Given the description of an element on the screen output the (x, y) to click on. 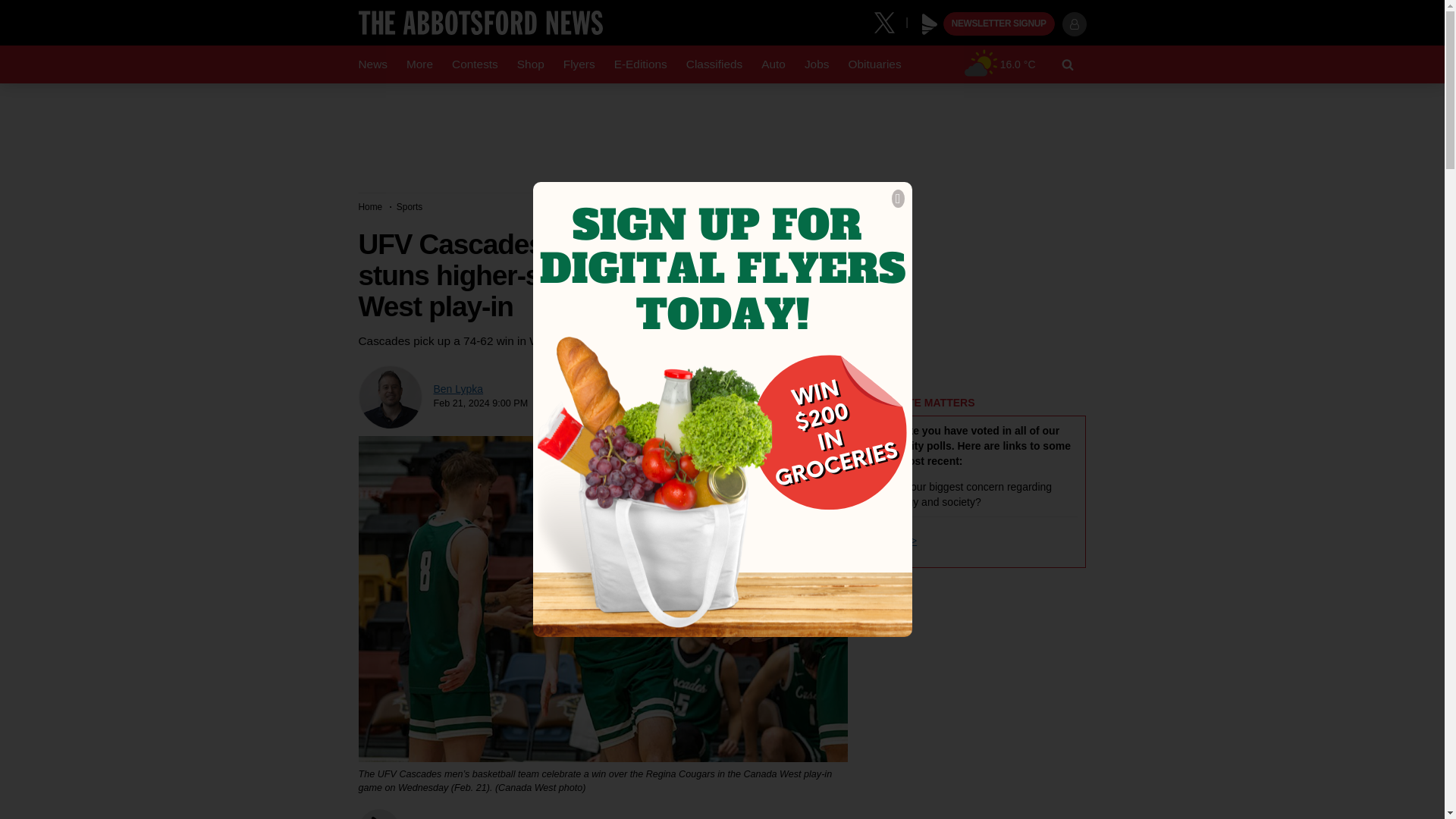
X (889, 21)
Black Press Media (929, 24)
NEWSLETTER SIGNUP (998, 24)
News (372, 64)
Play (929, 24)
